Given the description of an element on the screen output the (x, y) to click on. 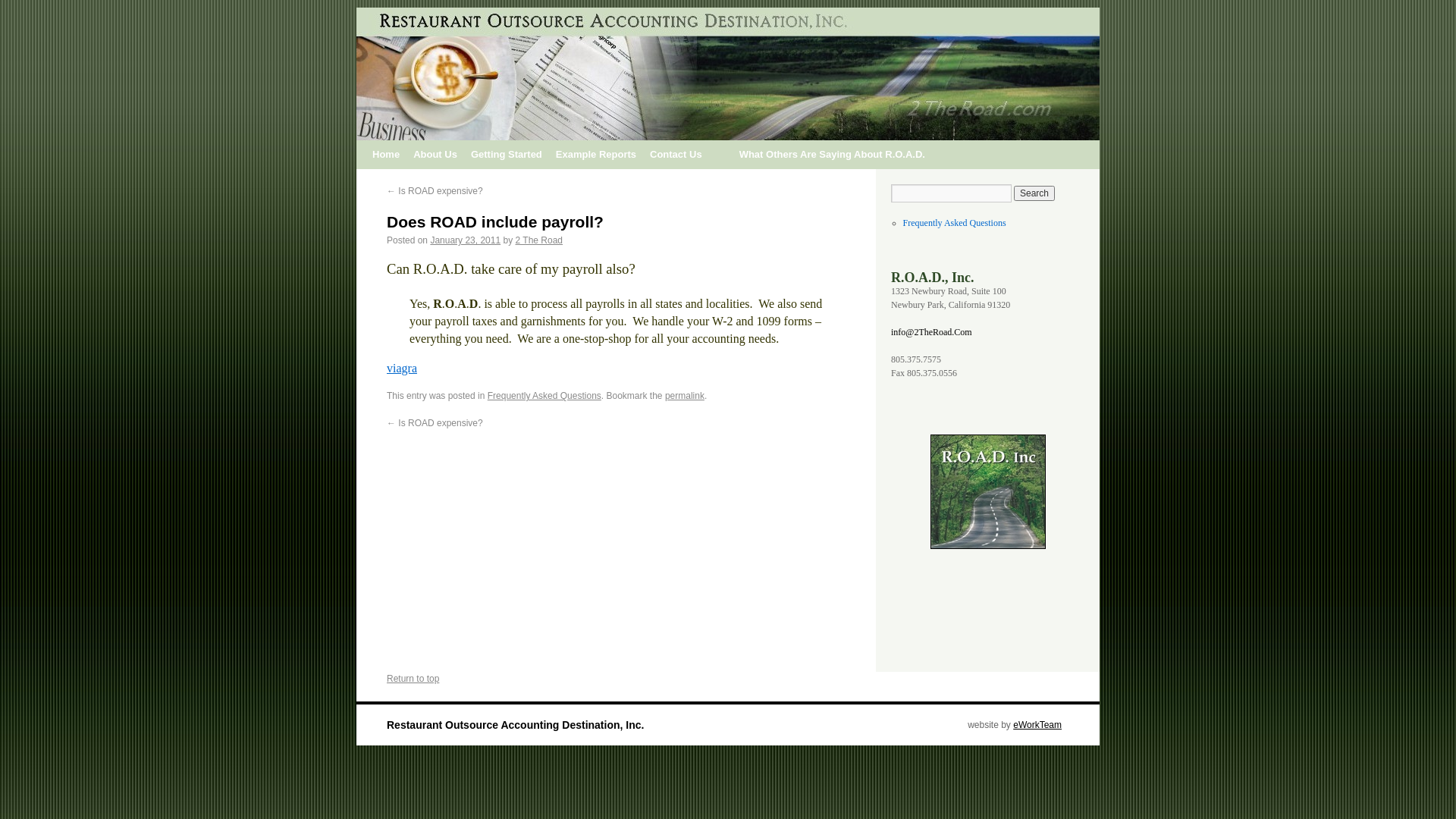
2 The Road Element type: text (539, 240)
About Us Element type: text (435, 154)
Example Reports Element type: text (596, 154)
Frequently Asked Questions Element type: text (544, 395)
January 23, 2011 Element type: text (464, 240)
What Others Are Saying About R.O.A.D. Element type: text (831, 154)
Restaurant Outsource Accounting Destination, Inc. Element type: text (514, 724)
Home Element type: text (385, 154)
eWorkTeam Element type: text (1037, 724)
Getting Started Element type: text (506, 154)
Contact Us Element type: text (676, 154)
permalink Element type: text (684, 395)
R O A D inc Element type: hover (986, 491)
info@2TheRoad.Com Element type: text (931, 331)
Return to top Element type: text (412, 678)
viagra Element type: text (401, 367)
Frequently Asked Questions Element type: text (954, 222)
Search Element type: text (1033, 192)
